Given the description of an element on the screen output the (x, y) to click on. 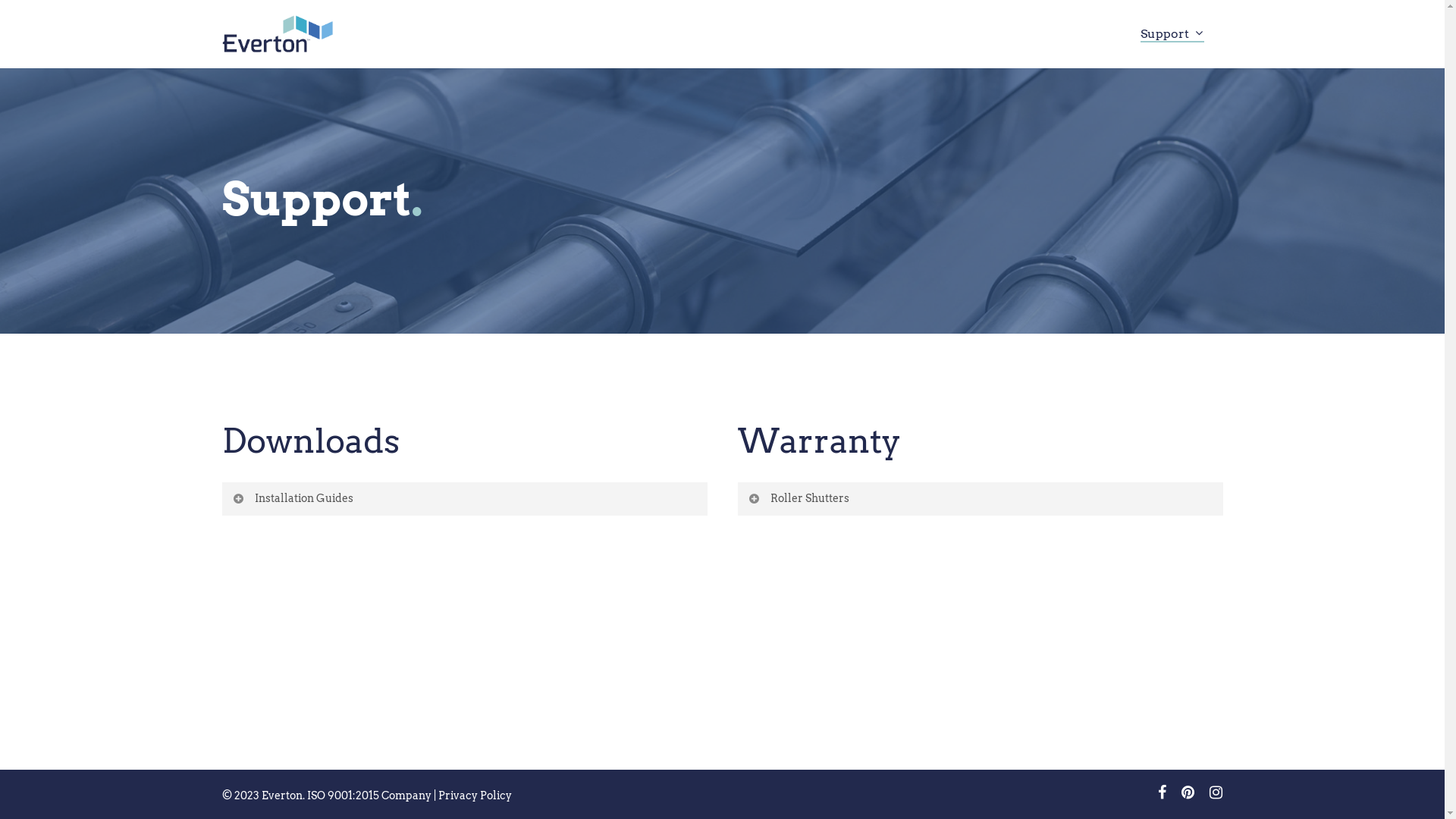
Privacy Policy Element type: text (474, 795)
Roller Shutters Element type: text (979, 498)
Installation Guides Element type: text (463, 498)
Support Element type: text (1172, 34)
